Given the description of an element on the screen output the (x, y) to click on. 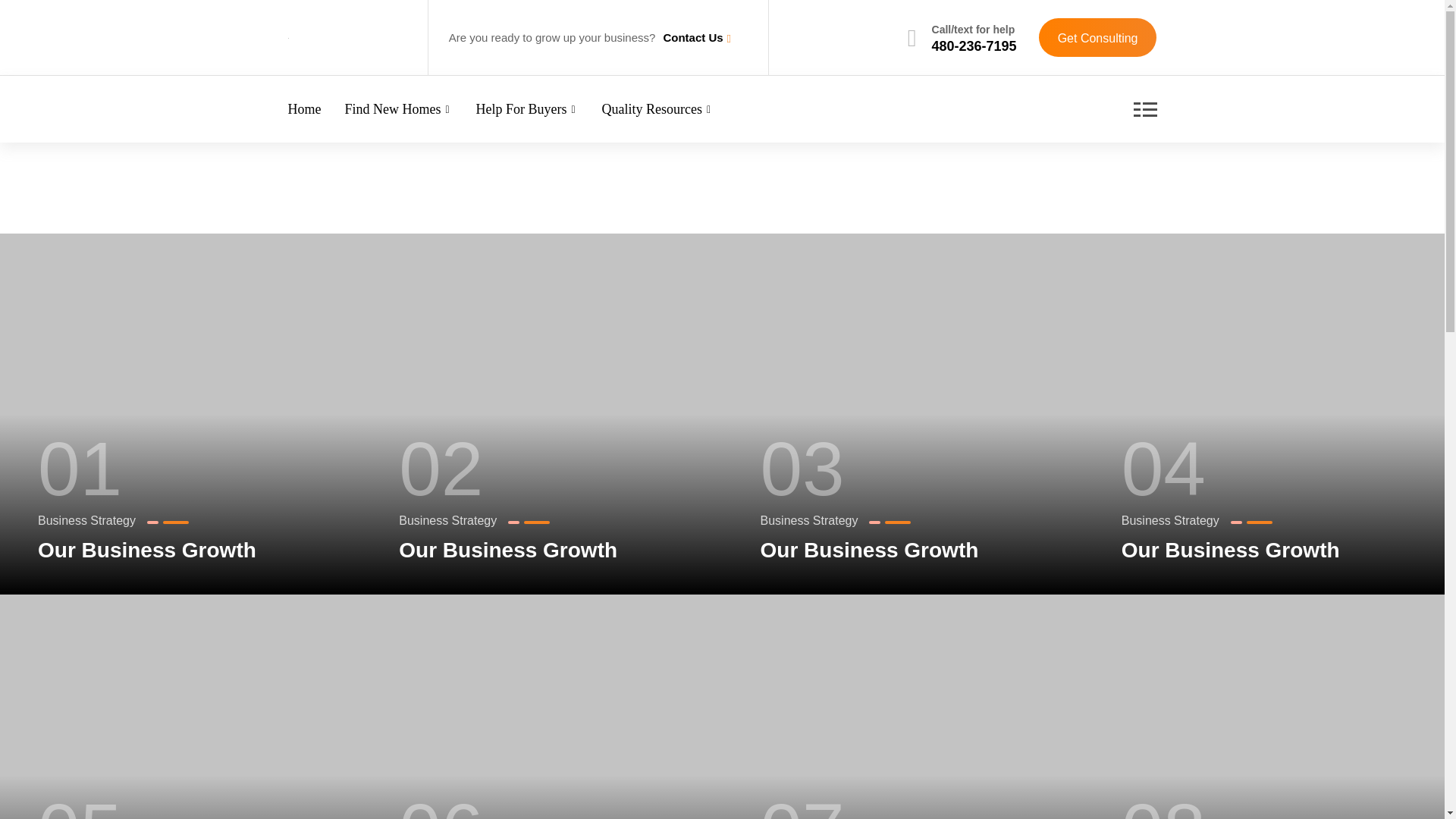
Find New Homes (398, 109)
Contact Us (692, 37)
Get Consulting (1098, 37)
480-236-7195 (973, 45)
